Given the description of an element on the screen output the (x, y) to click on. 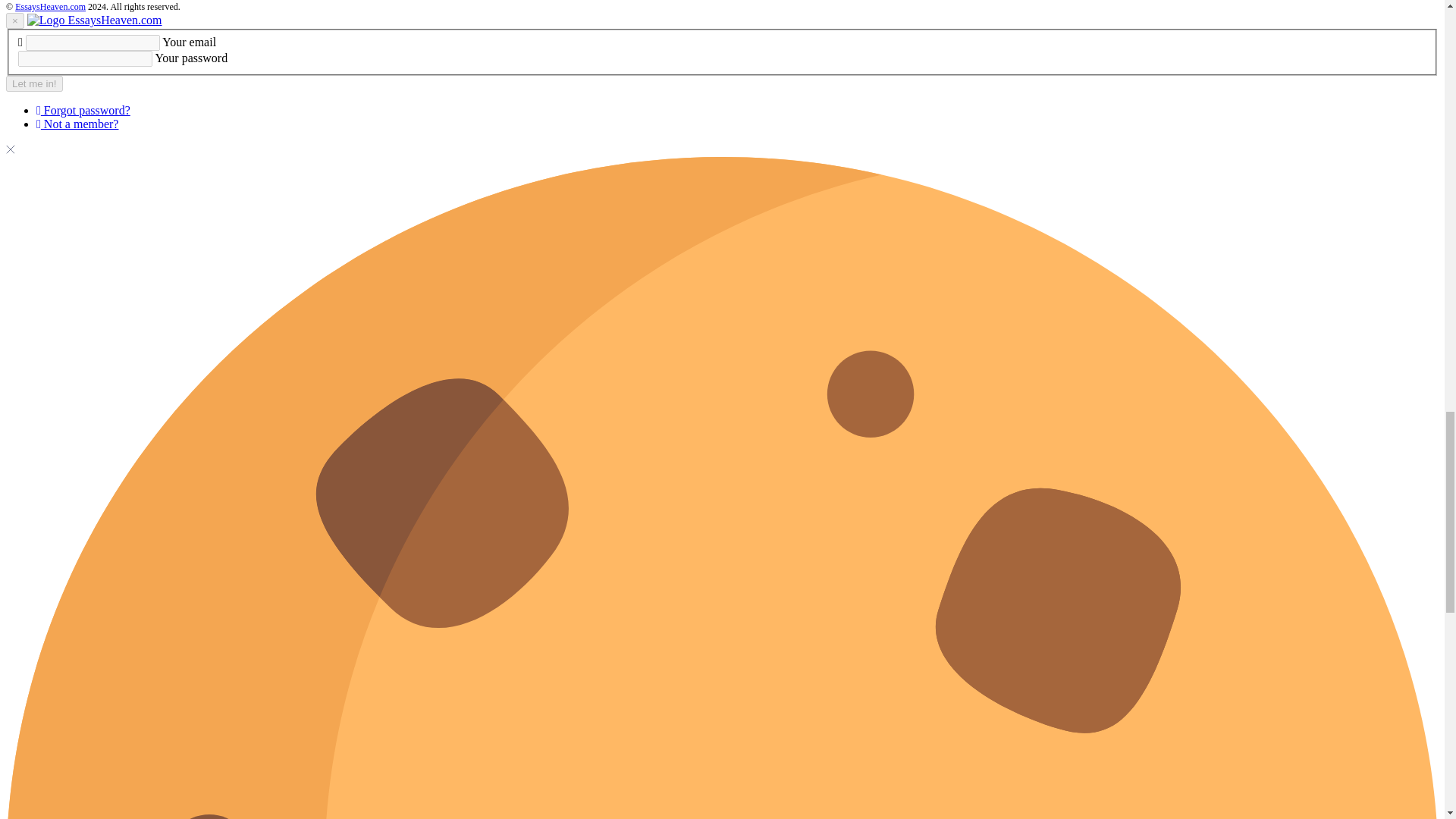
EssaysHeaven.com (49, 6)
